Given the description of an element on the screen output the (x, y) to click on. 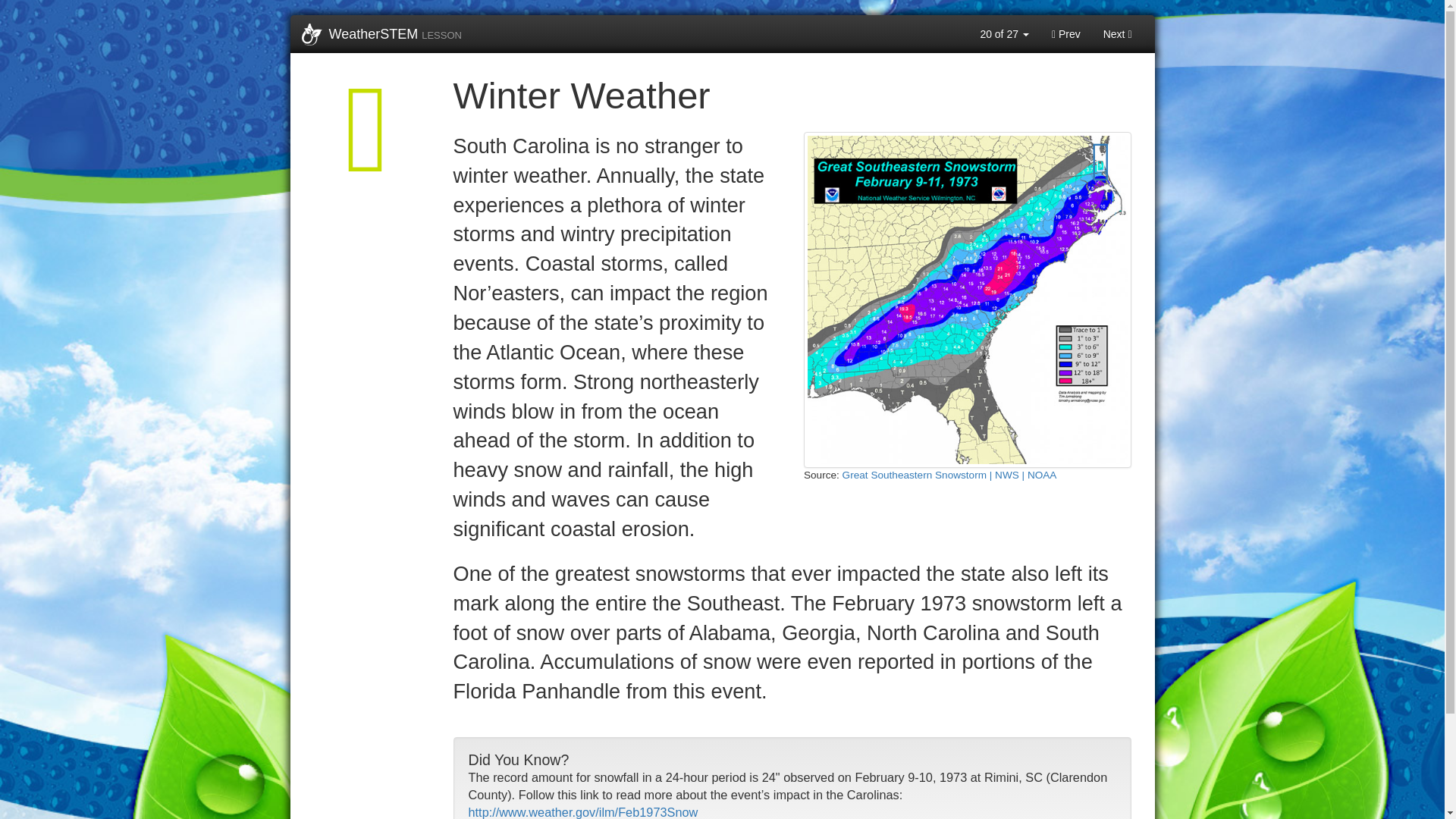
20 of 27 (1004, 34)
Next (1117, 34)
WeatherSTEM LESSON (380, 34)
Prev (1066, 34)
